Given the description of an element on the screen output the (x, y) to click on. 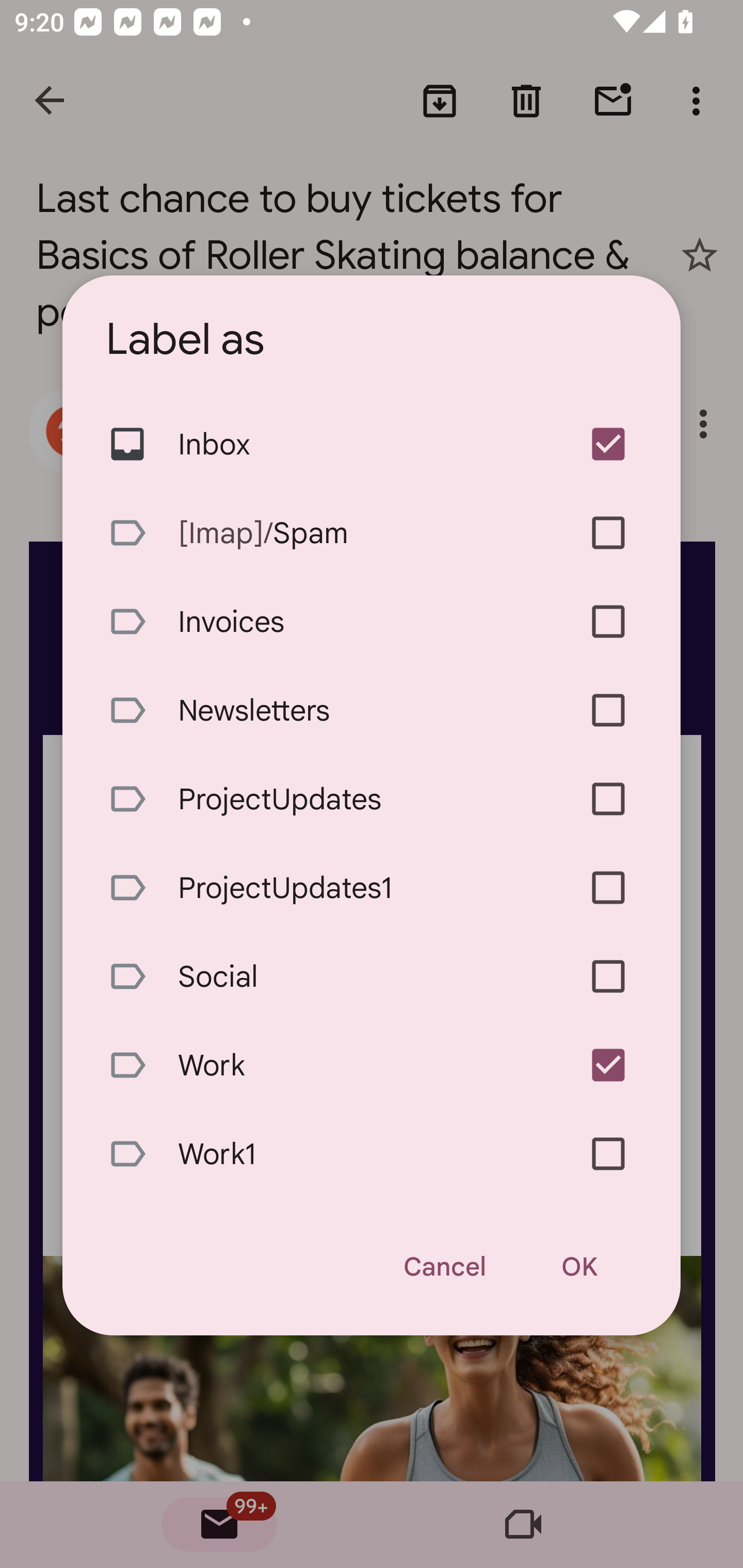
Inbox (371, 444)
[Imap]/Spam (371, 533)
Invoices (371, 621)
Newsletters (371, 710)
ProjectUpdates (371, 798)
ProjectUpdates1 (371, 887)
Social (371, 975)
Work (371, 1065)
Work1 (371, 1153)
Cancel (444, 1266)
OK (579, 1266)
